Given the description of an element on the screen output the (x, y) to click on. 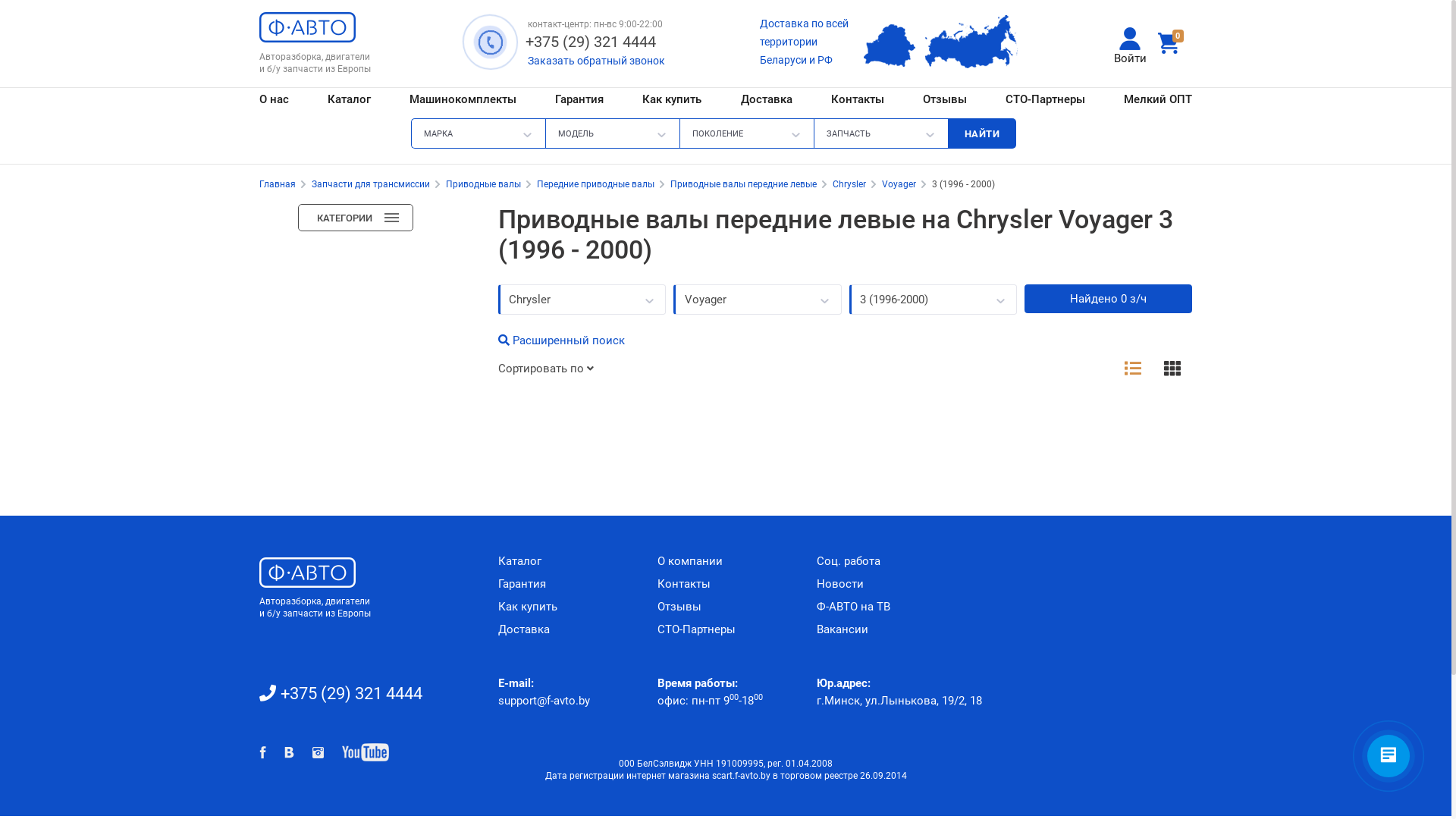
+375 (29) 321 4444 Element type: text (591, 42)
Chrysler Element type: text (850, 183)
Voyager Element type: text (756, 299)
0 Element type: text (1172, 43)
Chrysler Element type: text (581, 299)
3 (1996-2000) Element type: text (932, 299)
Voyager Element type: text (899, 183)
